Given the description of an element on the screen output the (x, y) to click on. 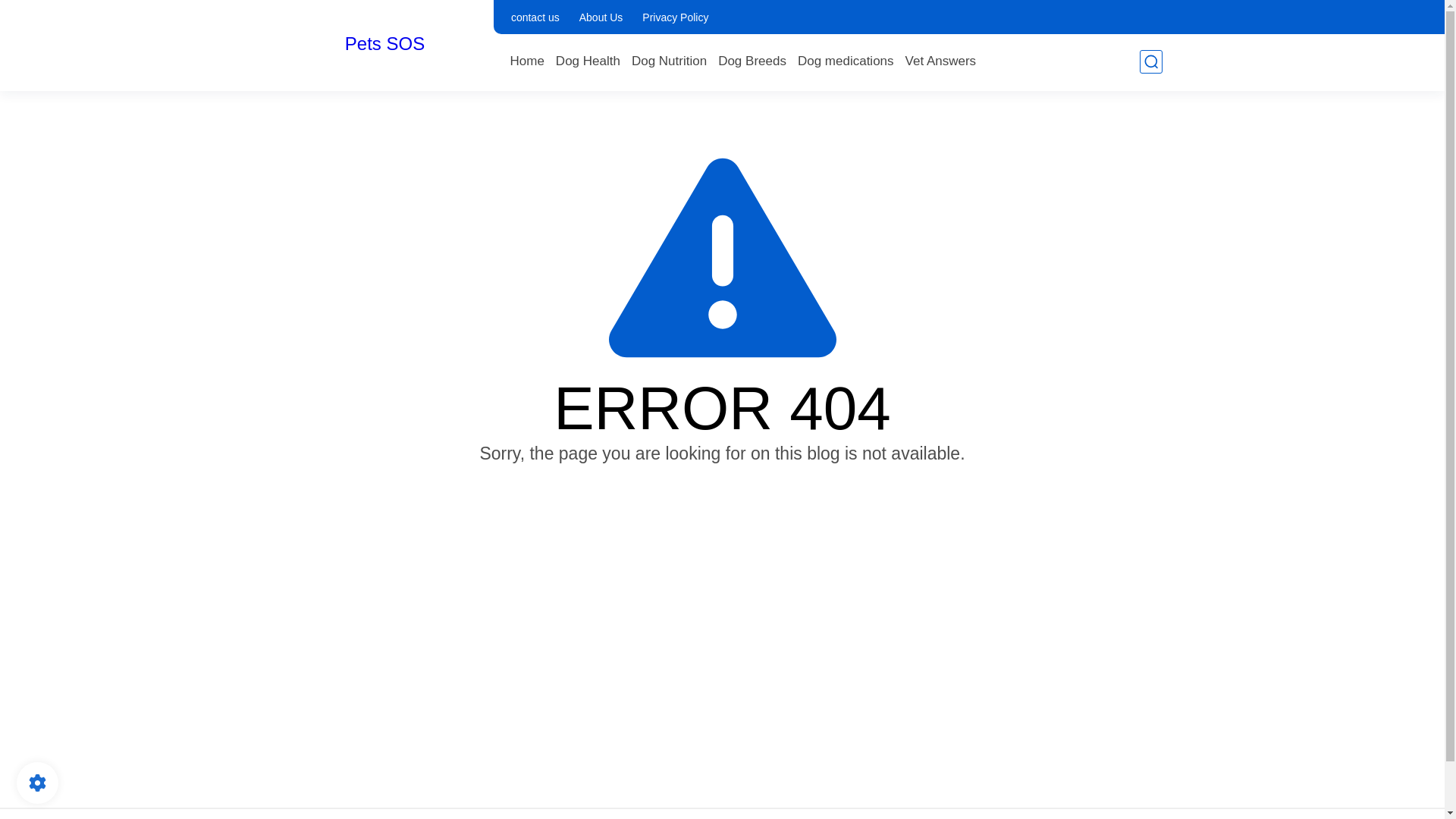
Dog Health (588, 61)
contact us (535, 17)
Dog Nutrition (668, 61)
Home (526, 61)
Dog medications (845, 61)
Pets SOS (385, 43)
Pets SOS (385, 43)
Dog Health (588, 61)
Dog Breeds (751, 61)
Privacy Policy (675, 17)
Dog medications (845, 61)
About Us (600, 17)
Dog Breeds (751, 61)
Vet Answers (940, 61)
Vet Answers (940, 61)
